Given the description of an element on the screen output the (x, y) to click on. 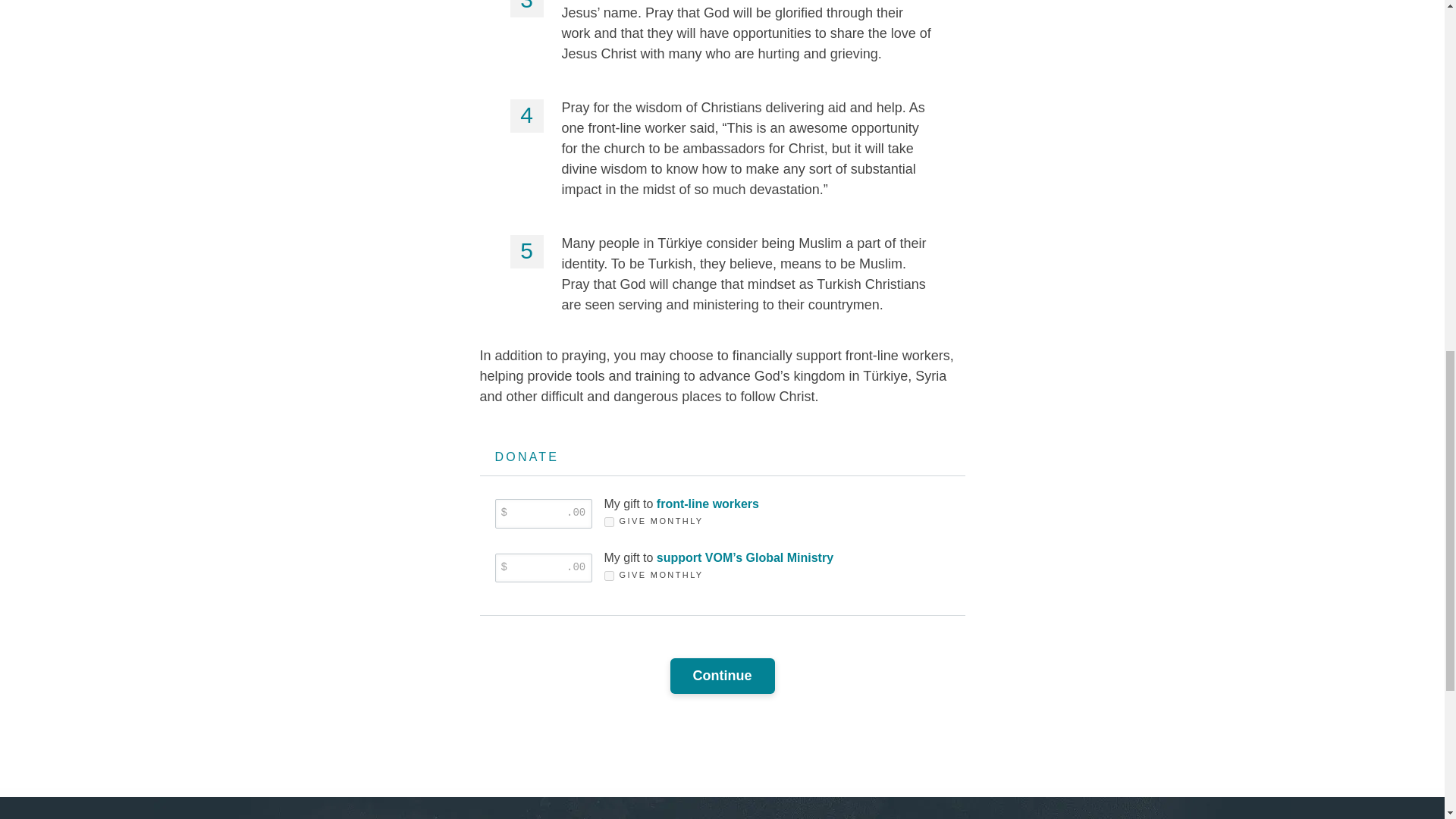
Y (608, 521)
Continue (721, 675)
Continue (721, 675)
Y (608, 575)
